Given the description of an element on the screen output the (x, y) to click on. 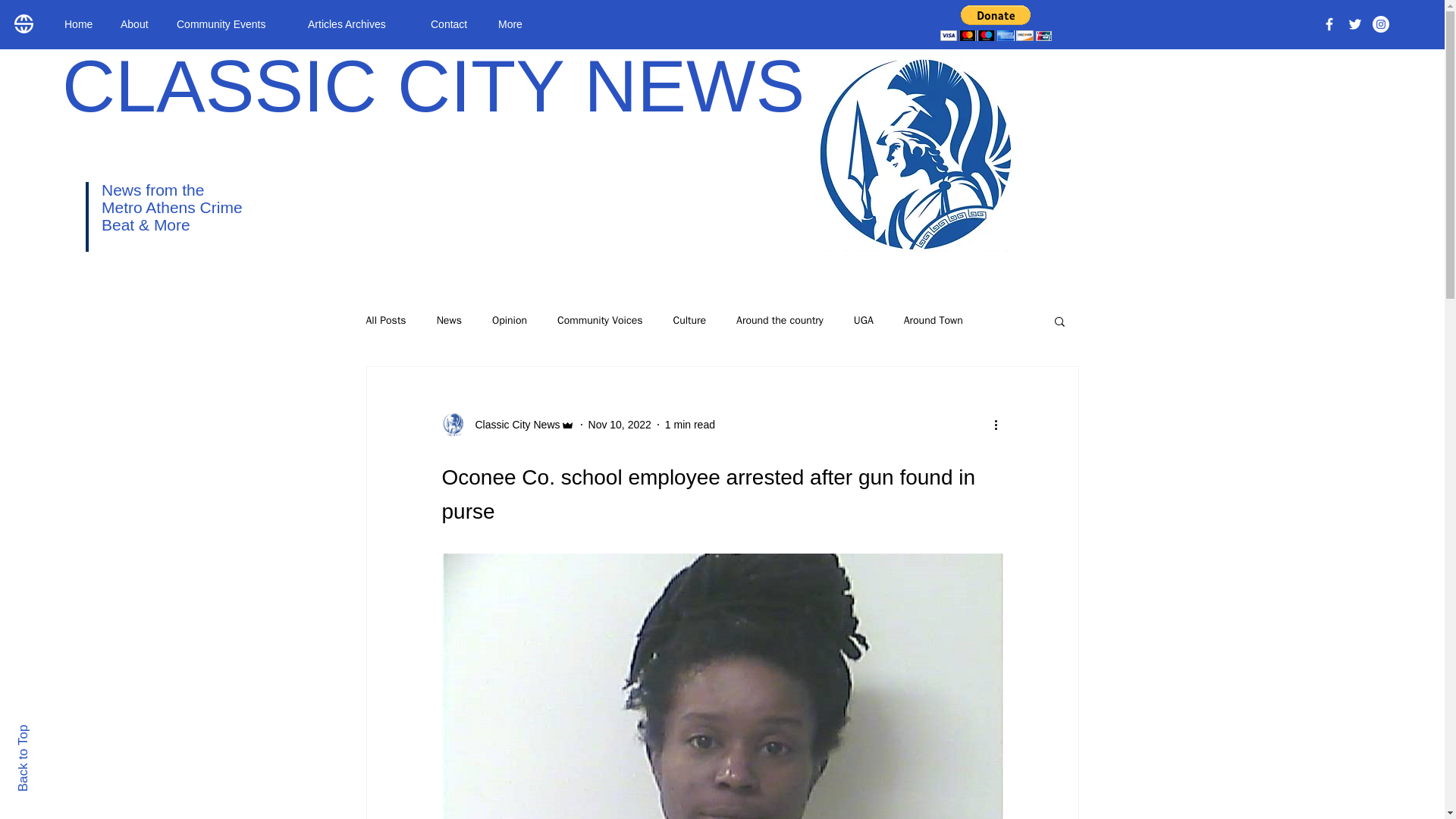
Classic City News (507, 424)
Community Events (231, 24)
CLASSIC CITY NEWS (433, 86)
Home (80, 24)
Classic City News (512, 424)
News (448, 320)
Opinion (509, 320)
Contact (452, 24)
1 min read (689, 424)
UGA (863, 320)
Around Town (933, 320)
All Posts (385, 320)
Nov 10, 2022 (619, 424)
About (137, 24)
Community Voices (599, 320)
